Given the description of an element on the screen output the (x, y) to click on. 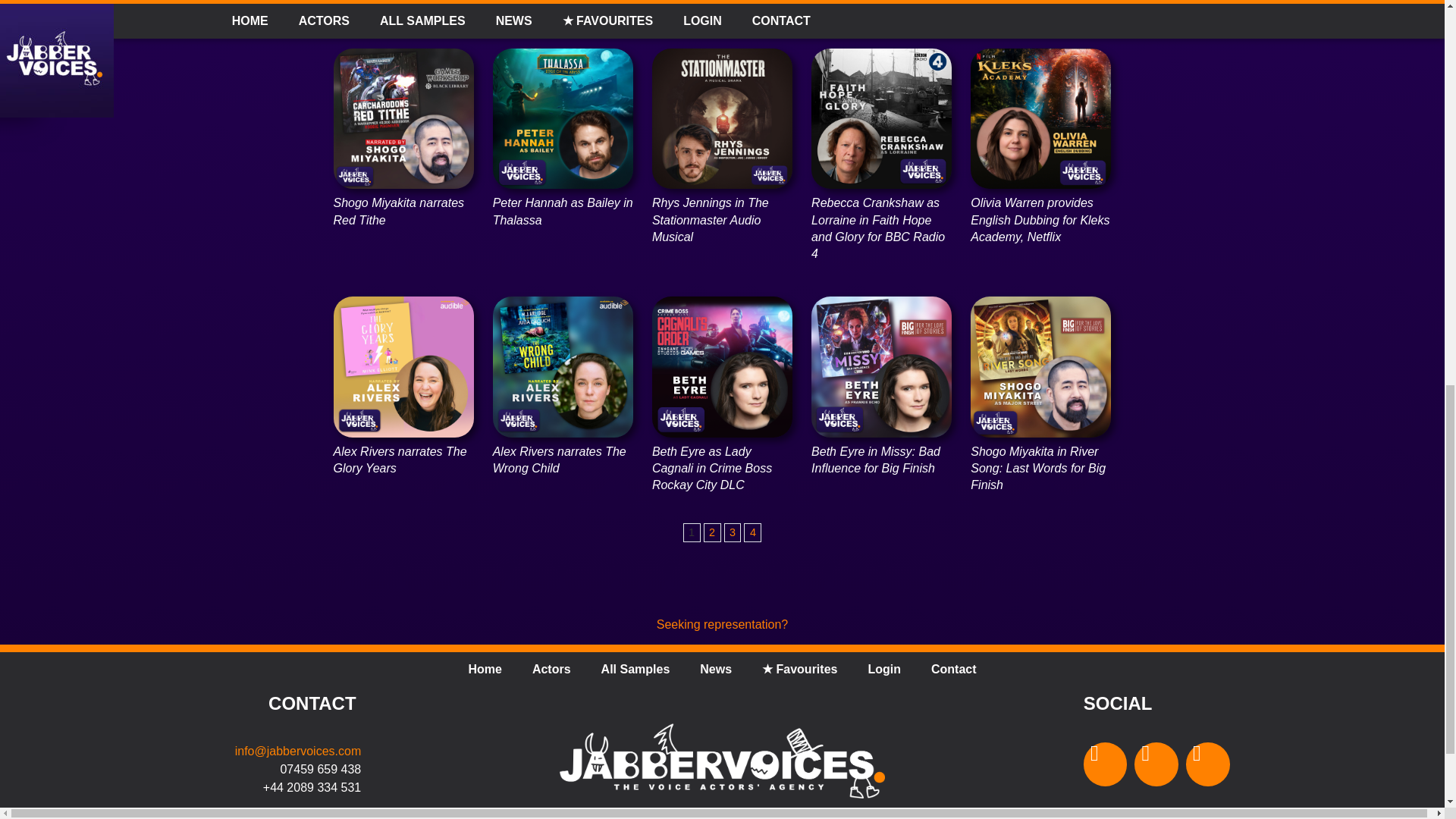
2 (711, 532)
4 (752, 532)
3 (732, 532)
